Given the description of an element on the screen output the (x, y) to click on. 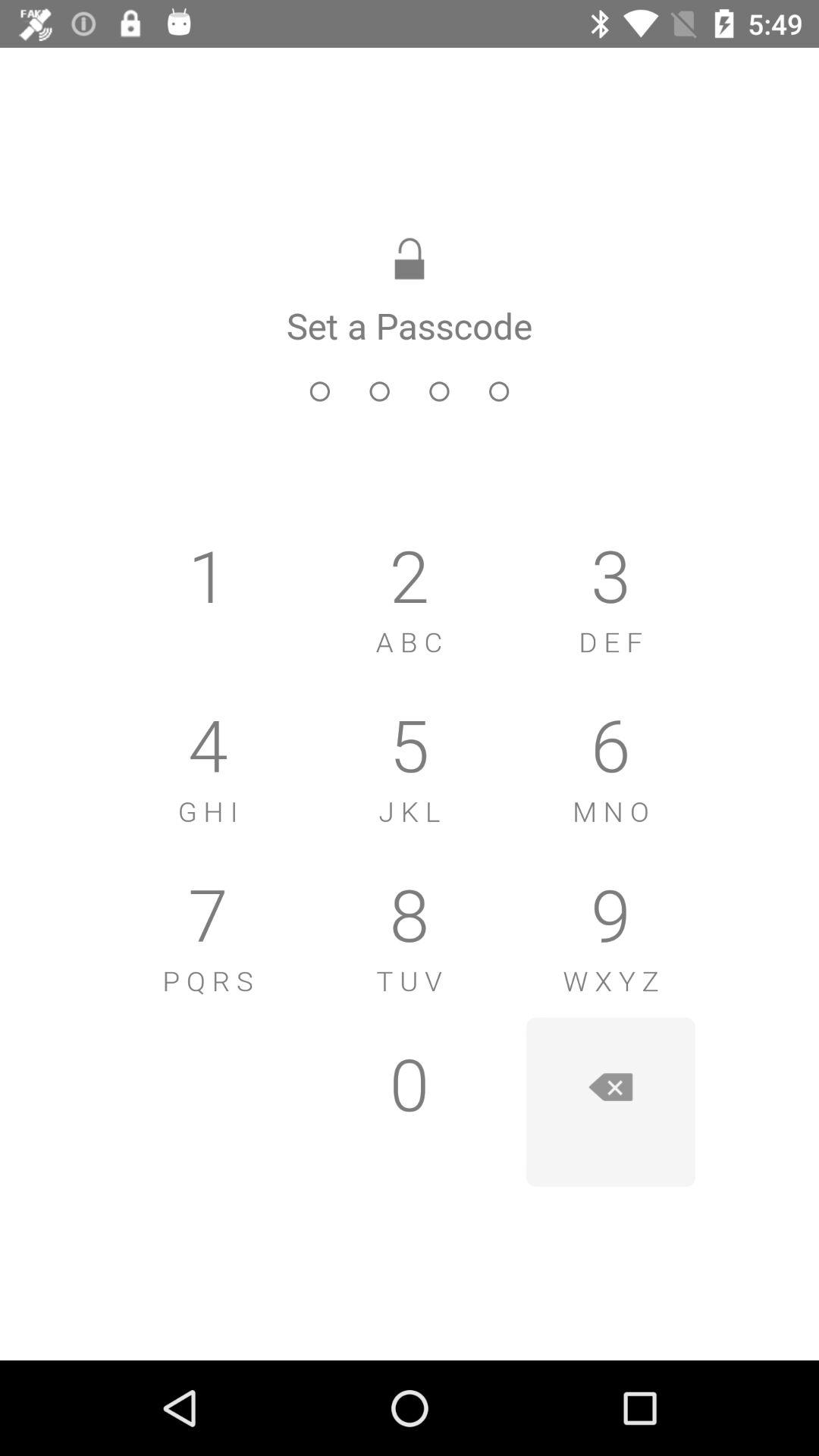
delete (610, 1101)
